Given the description of an element on the screen output the (x, y) to click on. 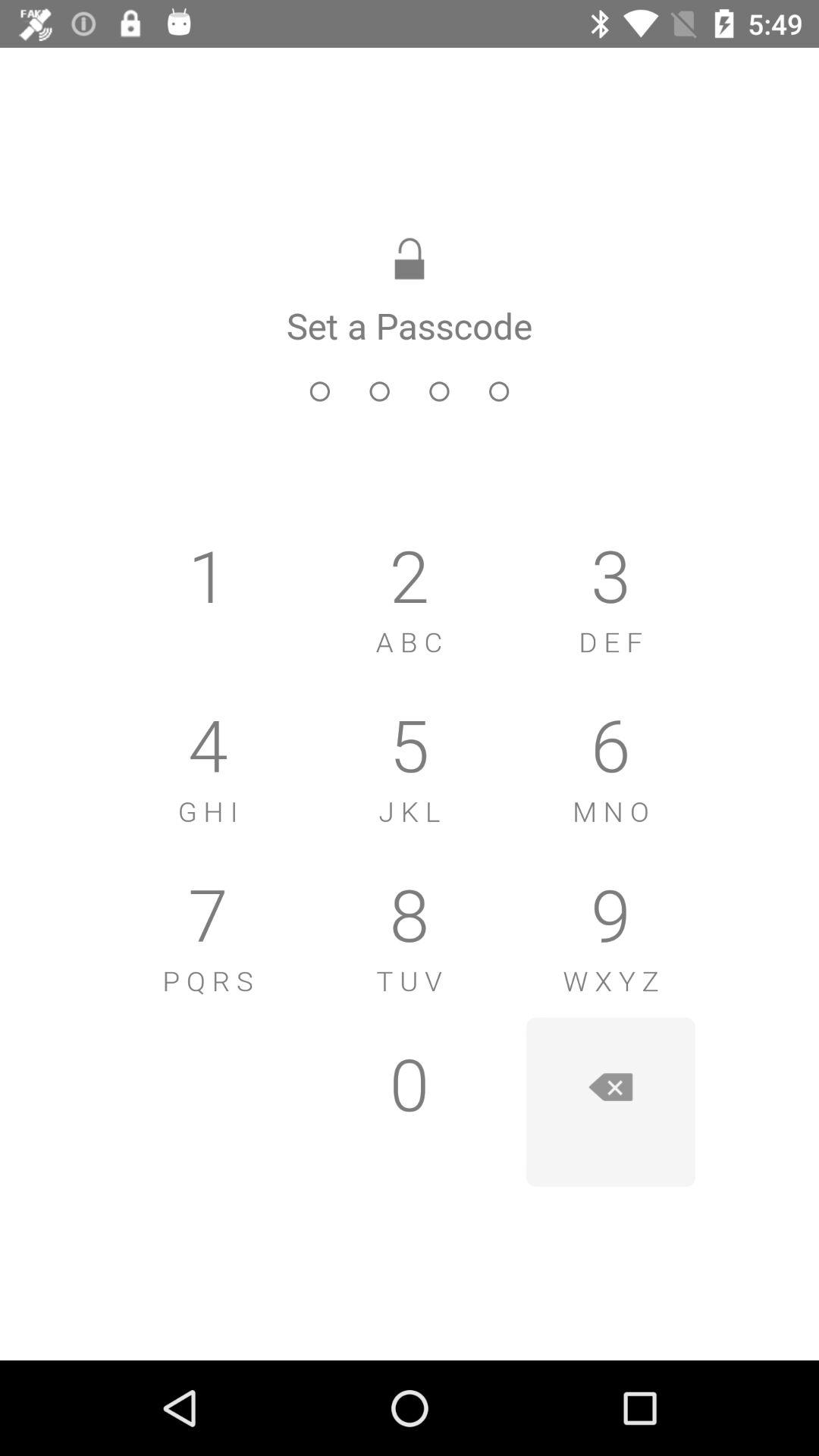
delete (610, 1101)
